Given the description of an element on the screen output the (x, y) to click on. 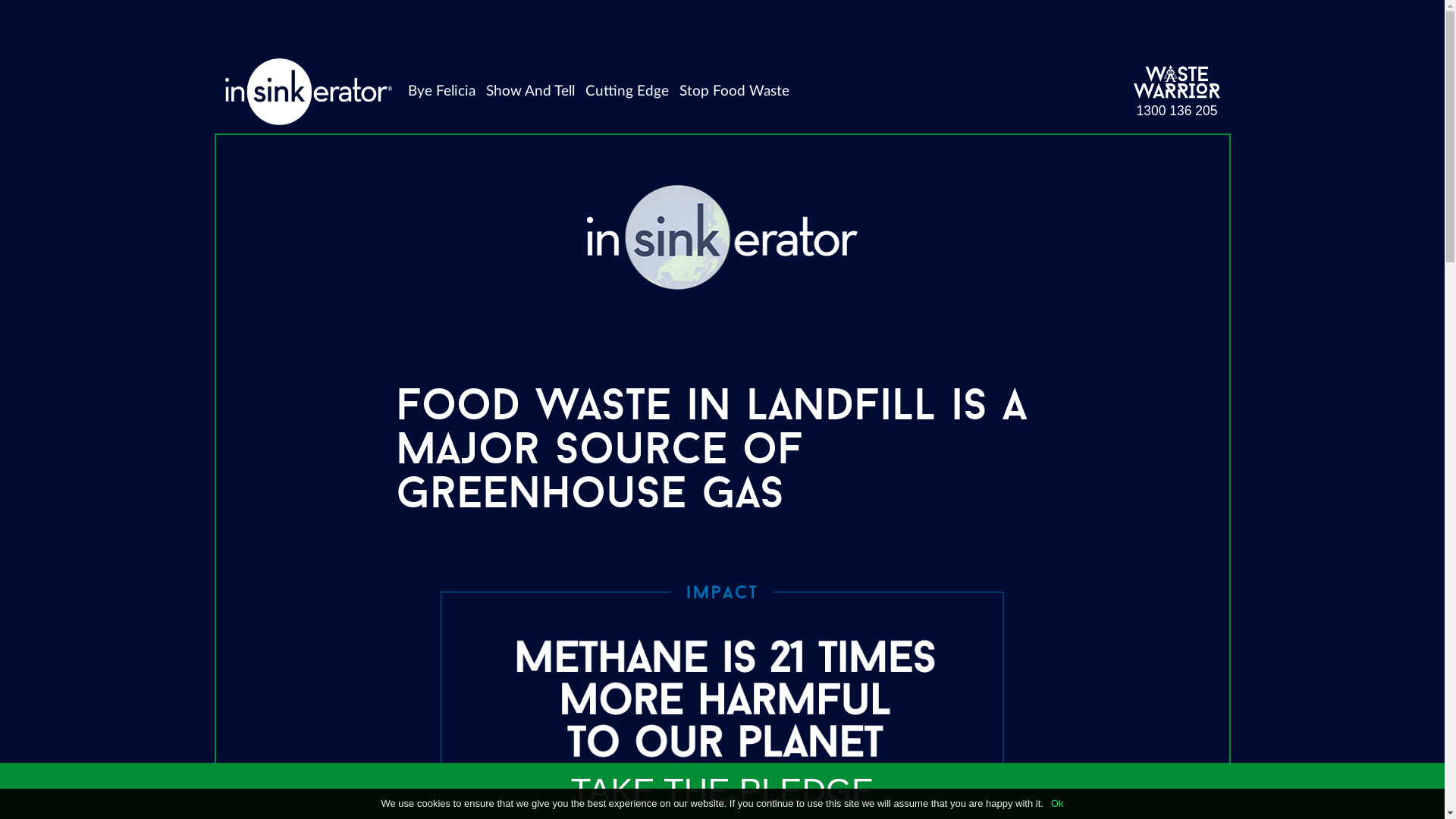
Cutting Edge Element type: text (627, 91)
Ok Element type: text (1057, 803)
Show And Tell Element type: text (530, 91)
Bye Felicia Element type: text (441, 91)
1300 136 205 Element type: text (1176, 110)
Stop Food Waste Element type: text (734, 91)
